Given the description of an element on the screen output the (x, y) to click on. 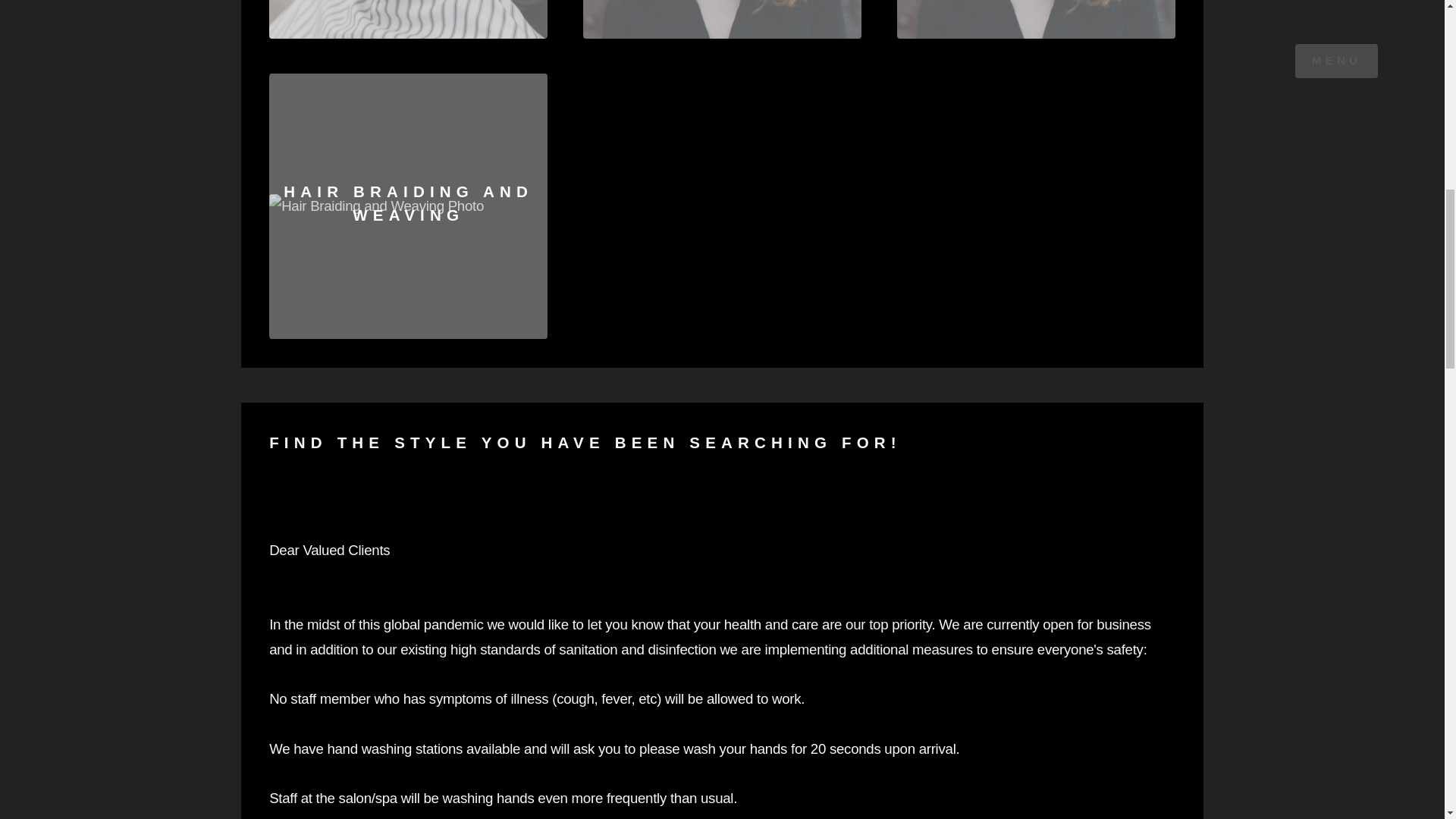
Shop Now (408, 206)
HAIR BRAIDING AND WEAVING (408, 206)
Shop Now (1035, 19)
Shop Now (722, 19)
Shop Now (408, 19)
